Given the description of an element on the screen output the (x, y) to click on. 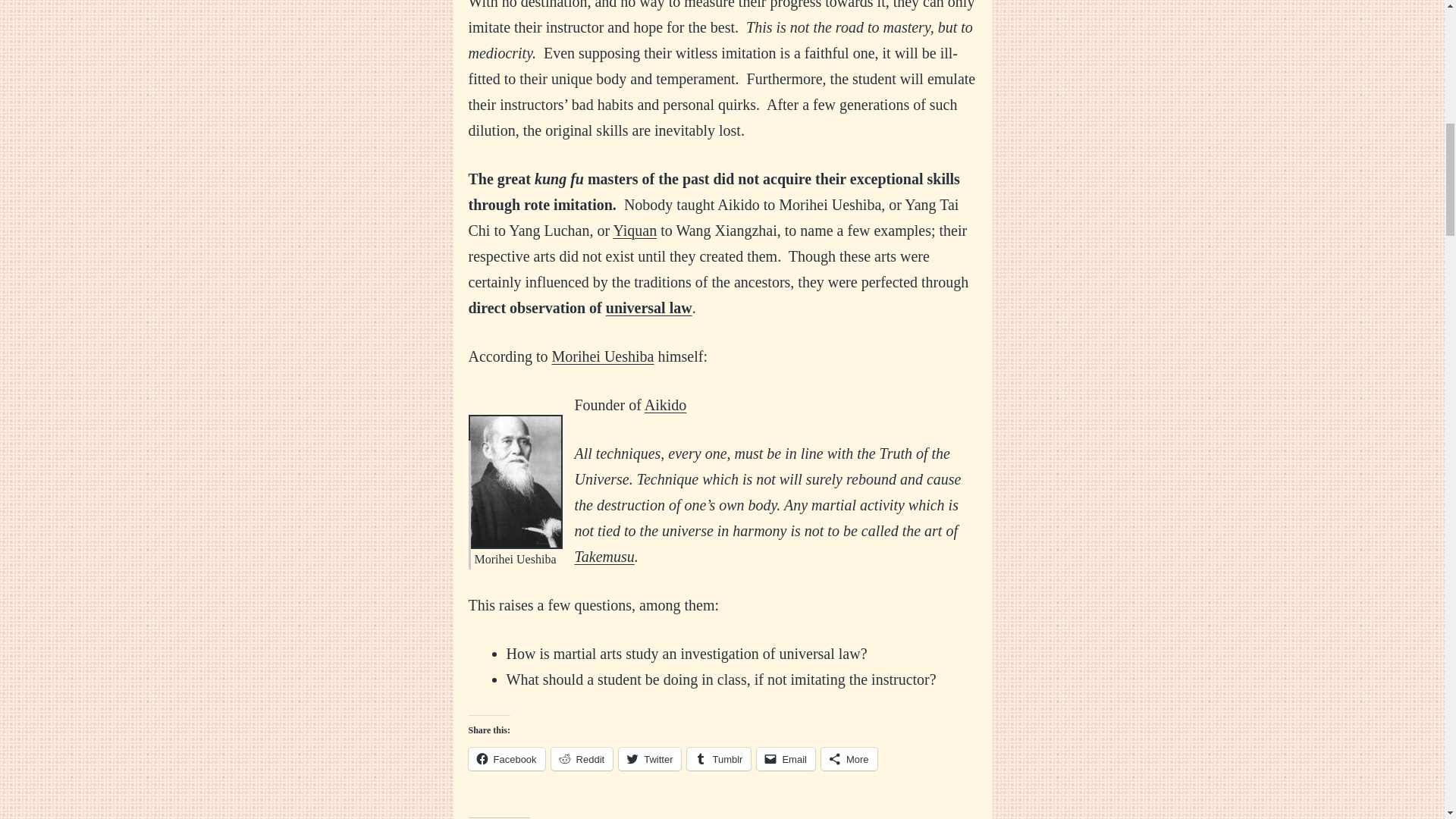
universal law (649, 307)
Transcending Subjective Reality (649, 307)
Tumblr (719, 758)
'What is Aikido?' by Kisshomaru Ueshiba (666, 404)
More (849, 758)
The writings of Morihei Ueshiba (602, 356)
Click to email a link to a friend (786, 758)
Takemusu Aiki (604, 556)
Click to share on Facebook (506, 758)
Click to share on Reddit (581, 758)
Morihei Ueshiba (602, 356)
About Yiquan (634, 230)
Twitter (649, 758)
Click to share on Twitter (649, 758)
Yiquan (634, 230)
